Given the description of an element on the screen output the (x, y) to click on. 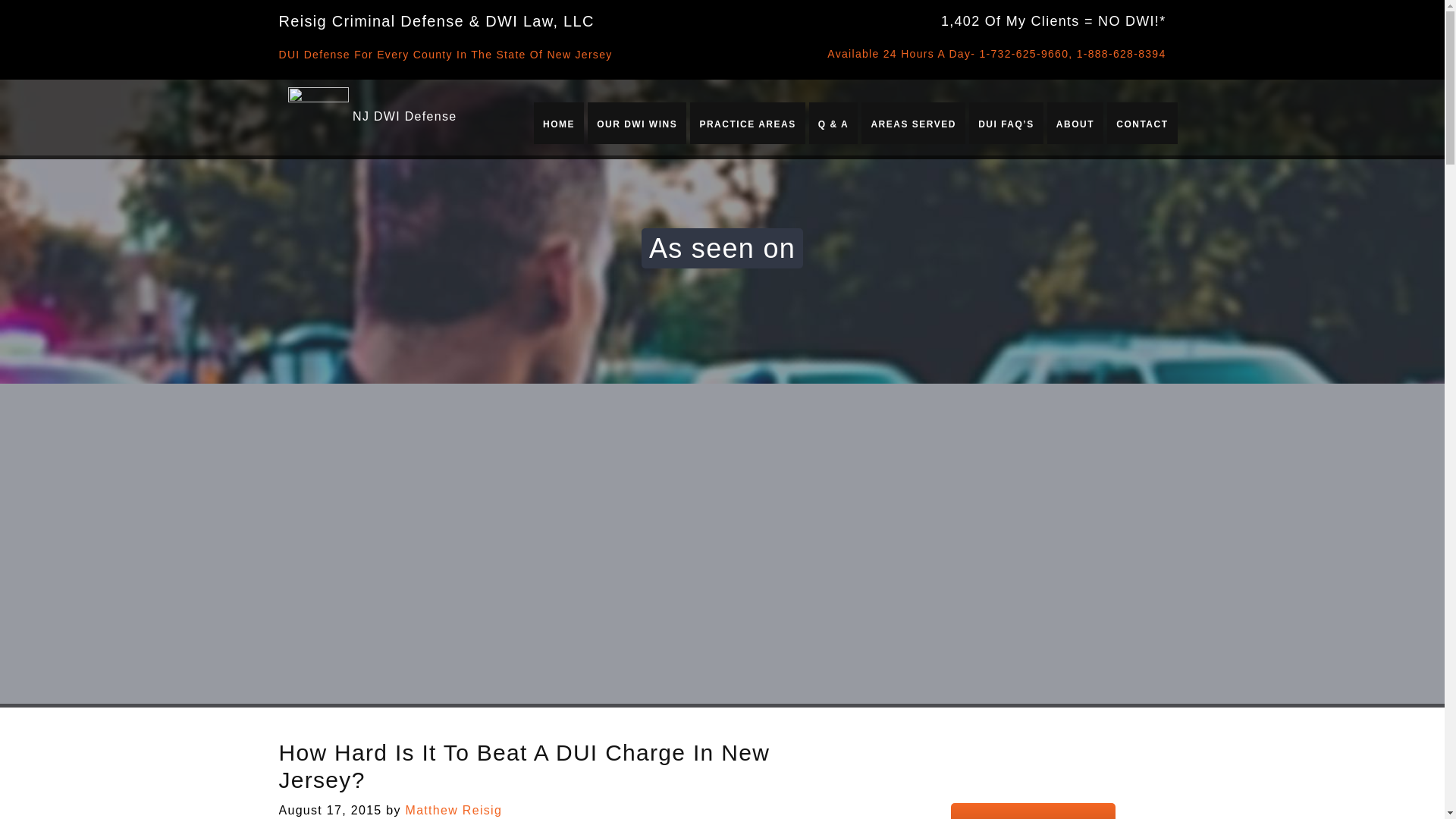
PRACTICE AREAS (746, 122)
1-732-625-9660 (1023, 53)
NJ DWI Defense (404, 115)
HOME (559, 122)
OUR DWI WINS (636, 122)
CONTACT (1141, 122)
Matthew Reisig (454, 809)
AREAS SERVED (912, 122)
1-888-628-8394 (1121, 53)
ABOUT (1075, 122)
